Given the description of an element on the screen output the (x, y) to click on. 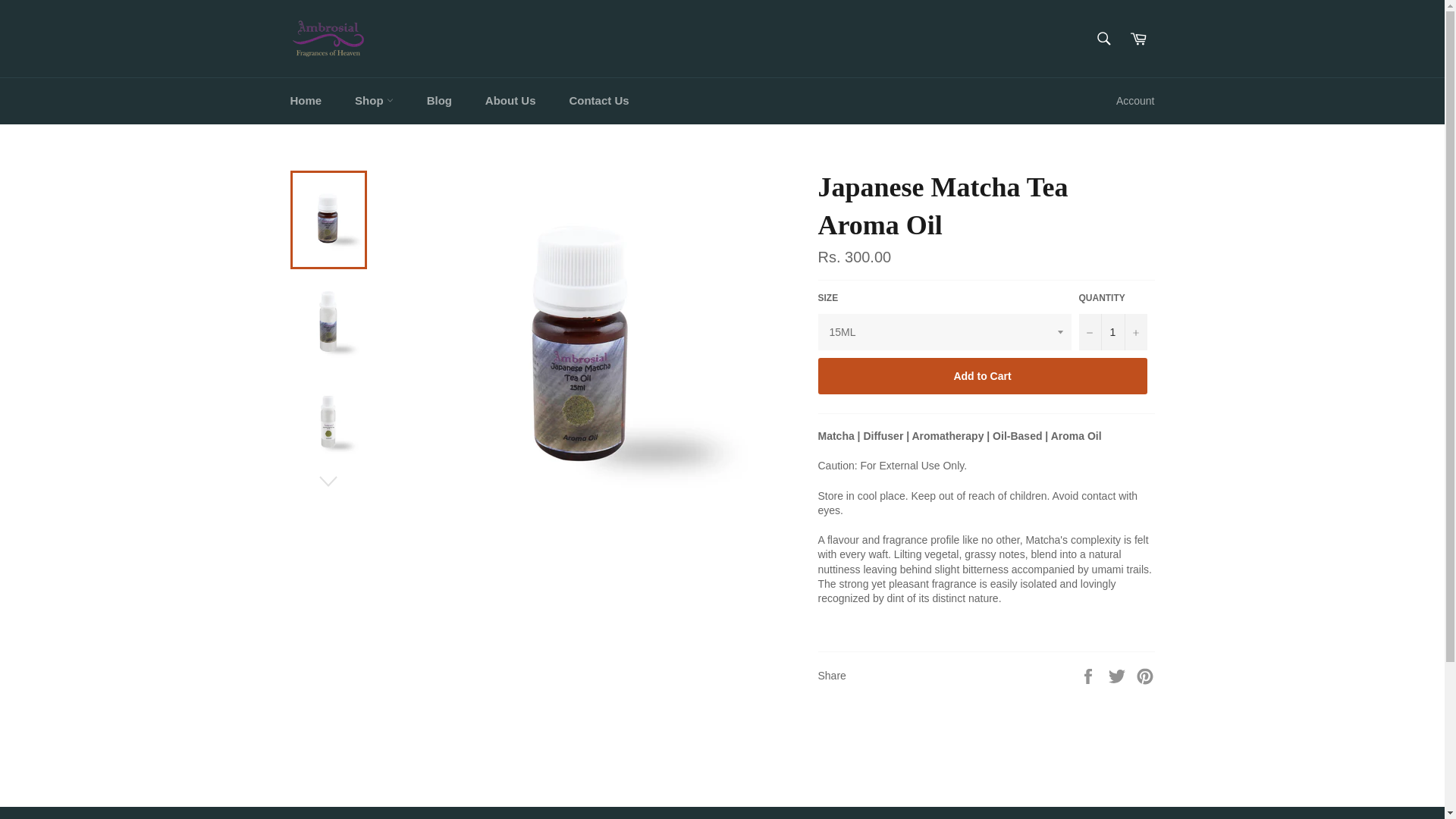
Pin on Pinterest (1144, 674)
Share on Facebook (1089, 674)
1 (1112, 331)
Tweet on Twitter (1118, 674)
